Given the description of an element on the screen output the (x, y) to click on. 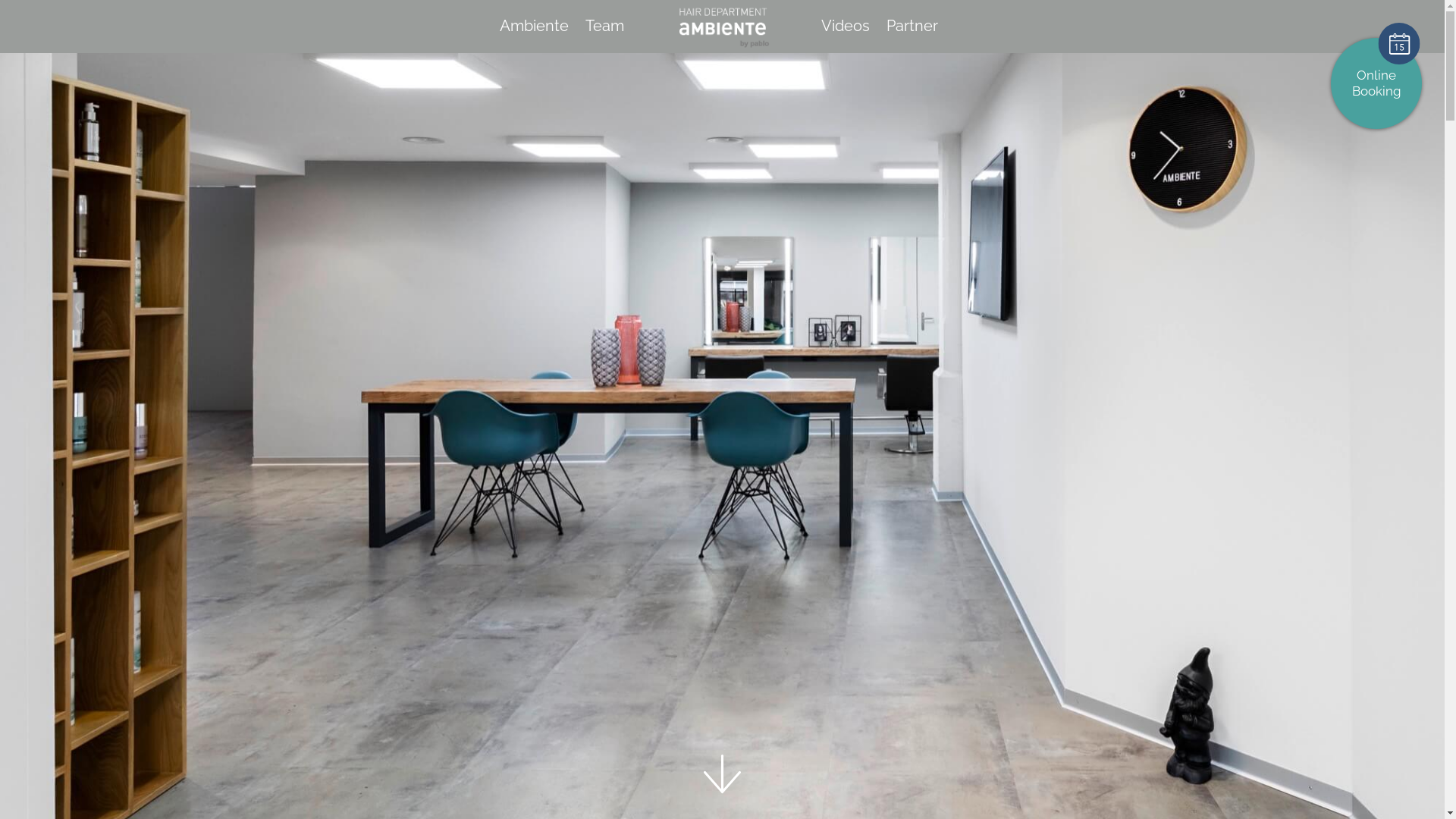
Team Element type: text (604, 25)
Partner Element type: text (911, 25)
Ambiente Element type: text (532, 25)
Online
Booking Element type: text (1375, 82)
Videos Element type: text (844, 25)
